Given the description of an element on the screen output the (x, y) to click on. 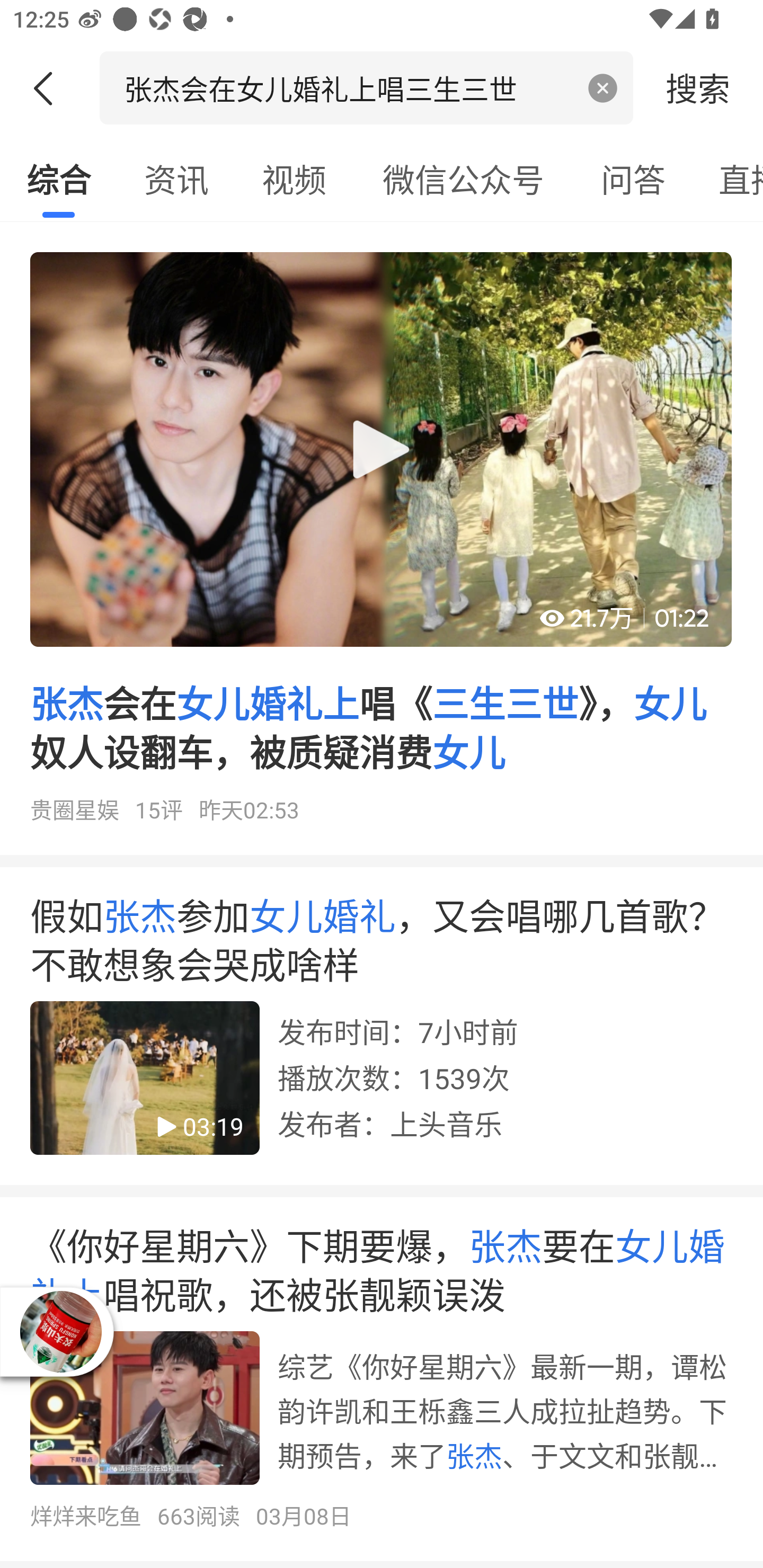
返回 (49, 87)
搜索 (698, 87)
张杰会在女儿婚礼上唱三生三世 (347, 87)
清空 (602, 88)
已选中综合 (58, 179)
资讯，可选中 (176, 179)
视频，可选中 (293, 179)
微信公众号，可选中 (463, 179)
问答，可选中 (633, 179)
张杰会在女儿婚礼上唱《三生三世》，女儿奴人设翻车，被质疑消费女儿 (381, 544)
假如张杰参加女儿婚礼，又会唱哪几首歌？不敢想象会哭成啥样 (381, 1032)
播放器 (60, 1331)
